Given the description of an element on the screen output the (x, y) to click on. 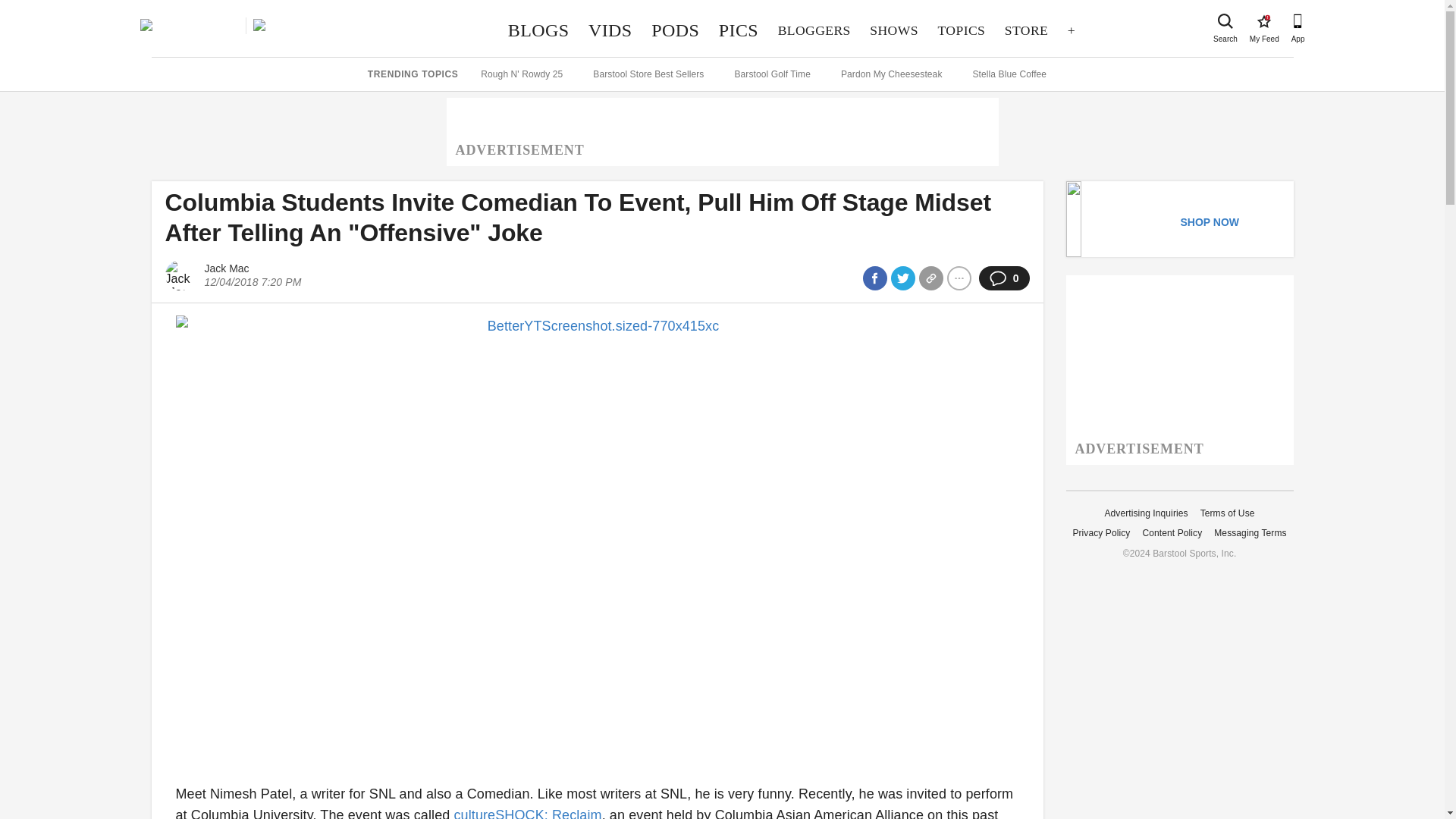
SHOWS (894, 30)
Search (1225, 20)
TOPICS (1263, 20)
BLOGGERS (961, 30)
PICS (814, 30)
VIDS (738, 30)
PODS (610, 30)
STORE (675, 30)
BLOGS (1026, 30)
